Given the description of an element on the screen output the (x, y) to click on. 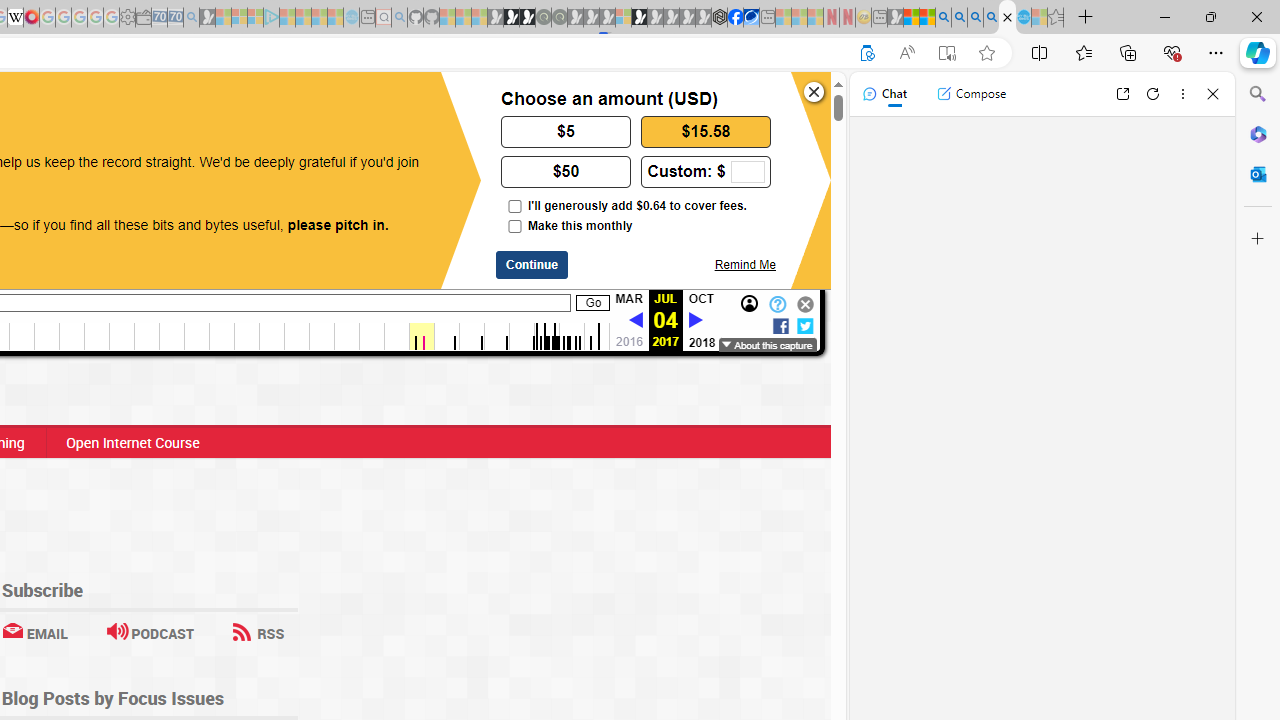
Remind Me (744, 264)
Nordace - Cooler Bags (719, 17)
Open Internet Course (132, 442)
Go (593, 303)
2009 Bing officially replaced Live Search on June 3 - Search (959, 17)
f (780, 324)
